Given the description of an element on the screen output the (x, y) to click on. 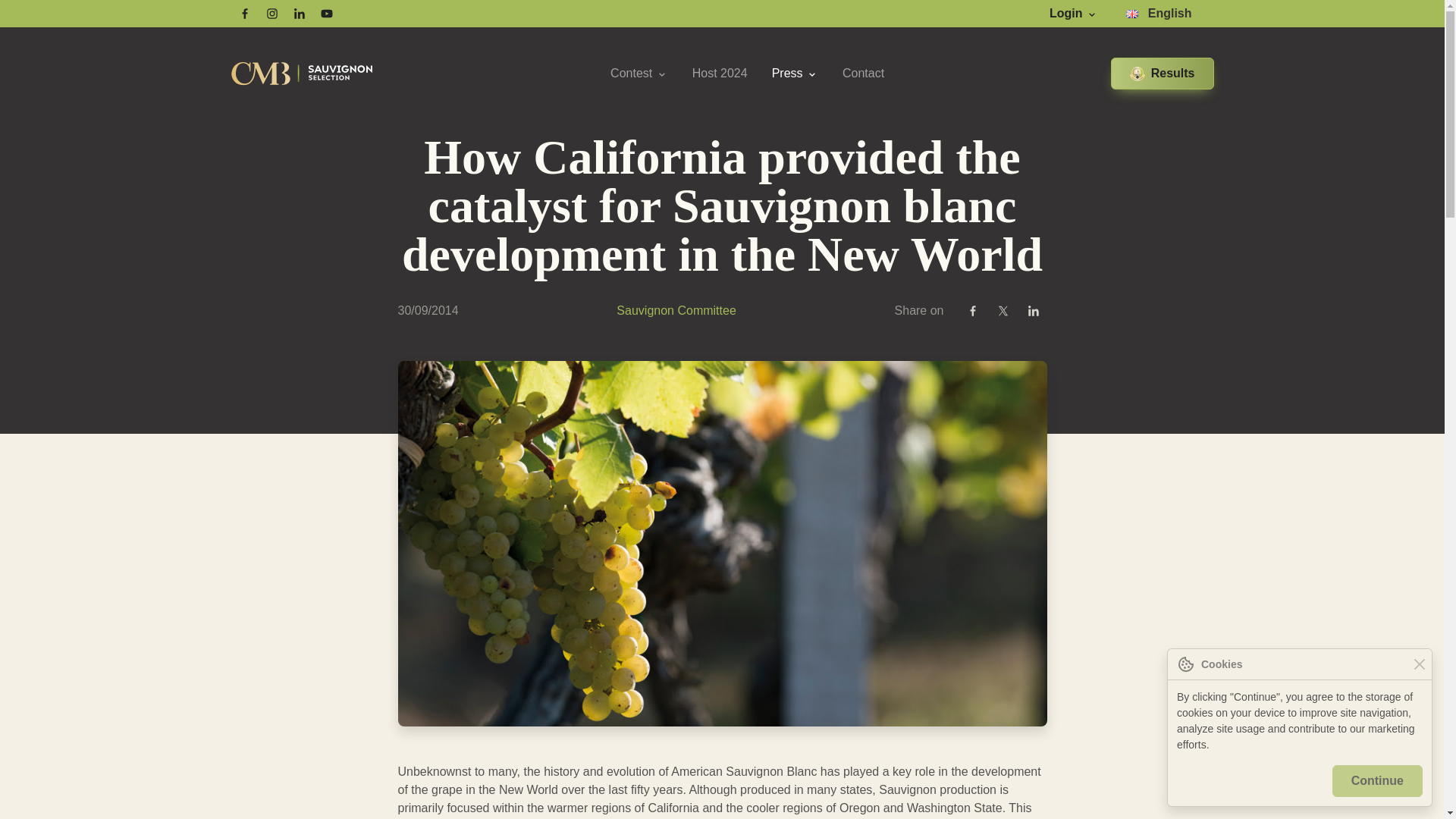
Press (794, 73)
Contest (638, 73)
Youtube (326, 13)
Contact (862, 73)
English (1158, 13)
Host 2024 (719, 73)
Linkedin (299, 13)
Facebook (243, 13)
Instagram (271, 13)
